Given the description of an element on the screen output the (x, y) to click on. 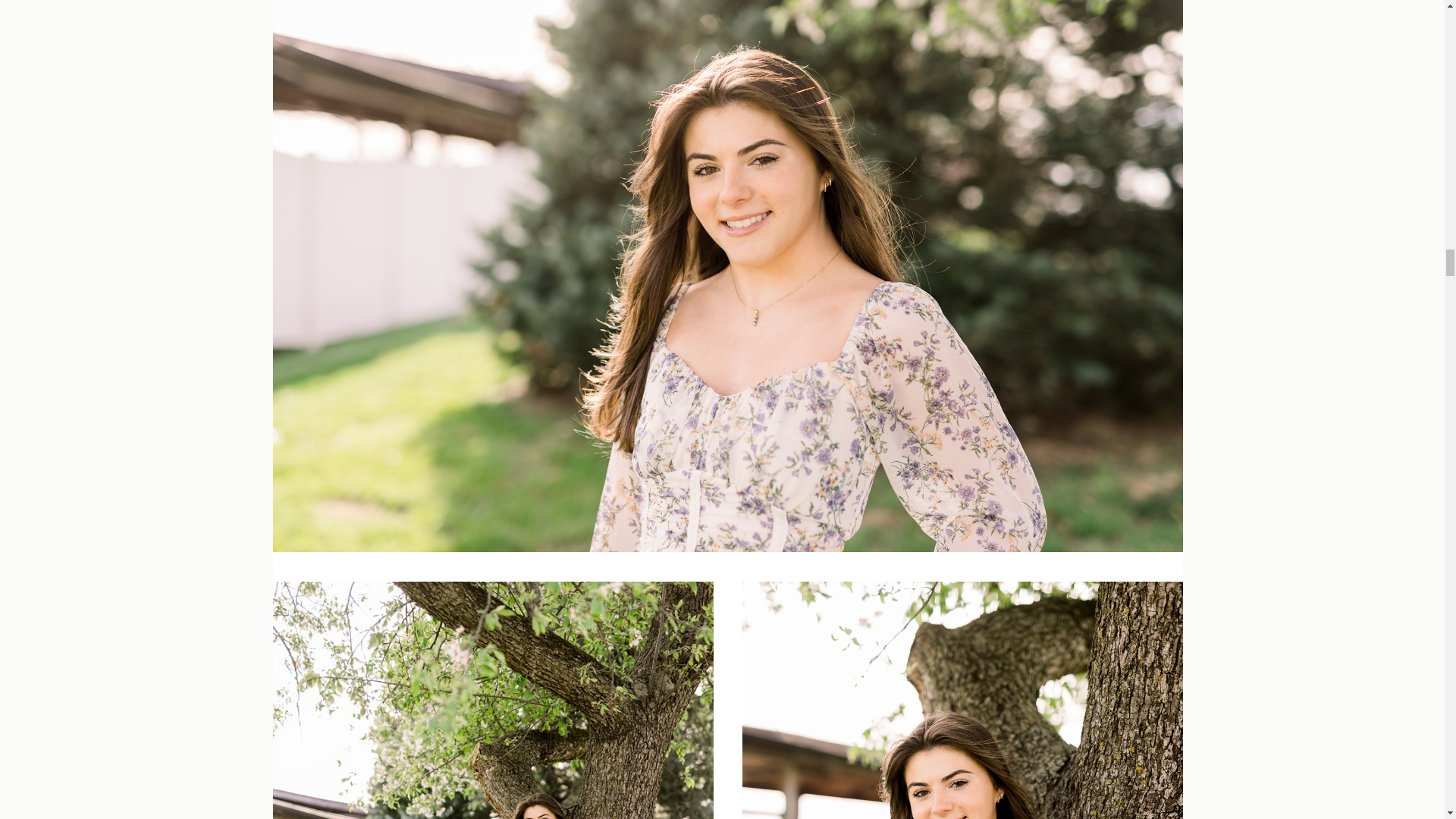
Nashville Senior Photography (962, 700)
Nashville Senior Photography (493, 700)
